Given the description of an element on the screen output the (x, y) to click on. 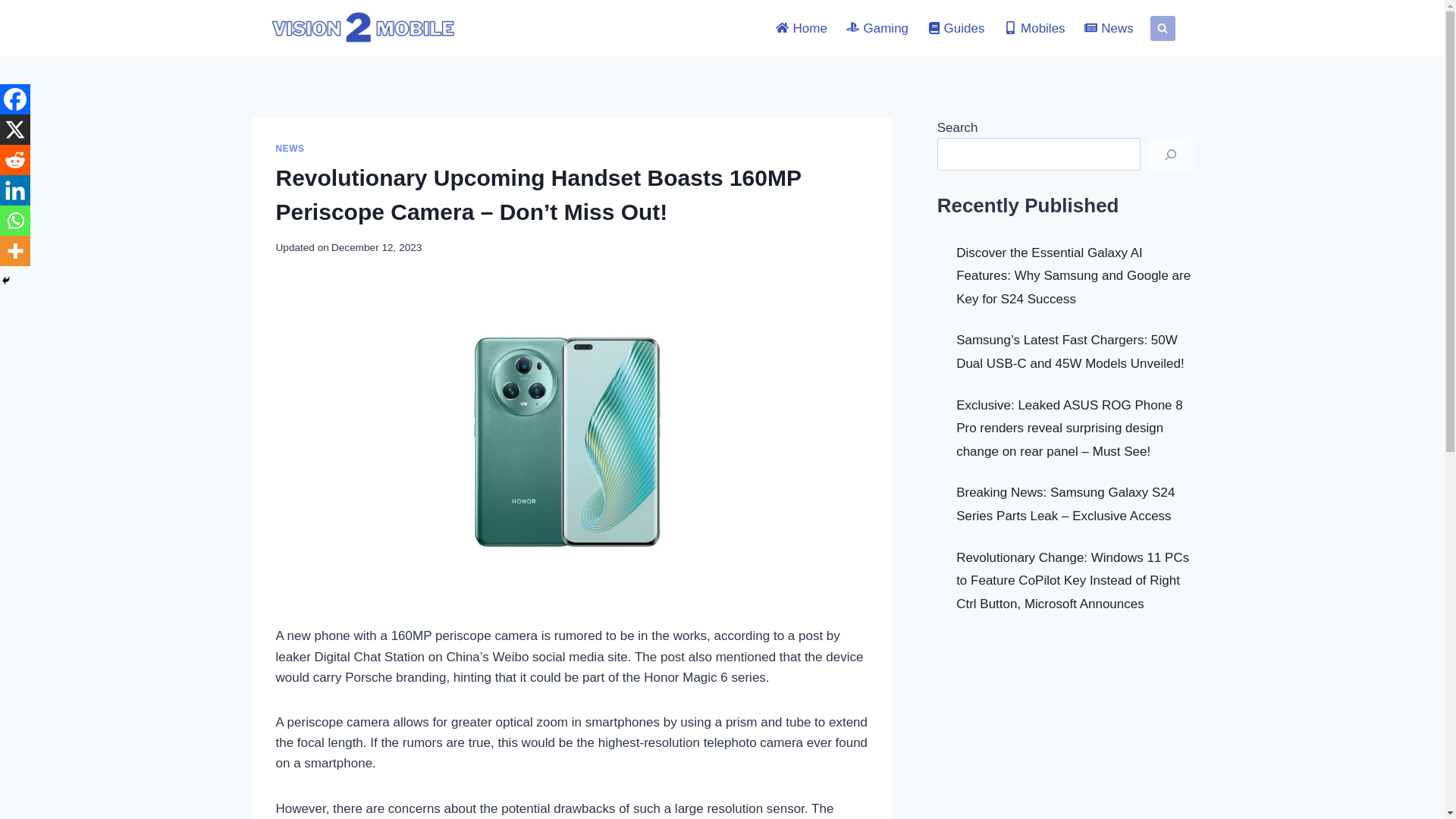
News (1108, 28)
NEWS (290, 148)
Guides (956, 28)
Hide (5, 280)
Facebook (15, 99)
Whatsapp (15, 220)
Home (802, 28)
Linkedin (15, 190)
Gaming (877, 28)
Reddit (15, 159)
More (15, 250)
Mobiles (1034, 28)
X (15, 129)
